Given the description of an element on the screen output the (x, y) to click on. 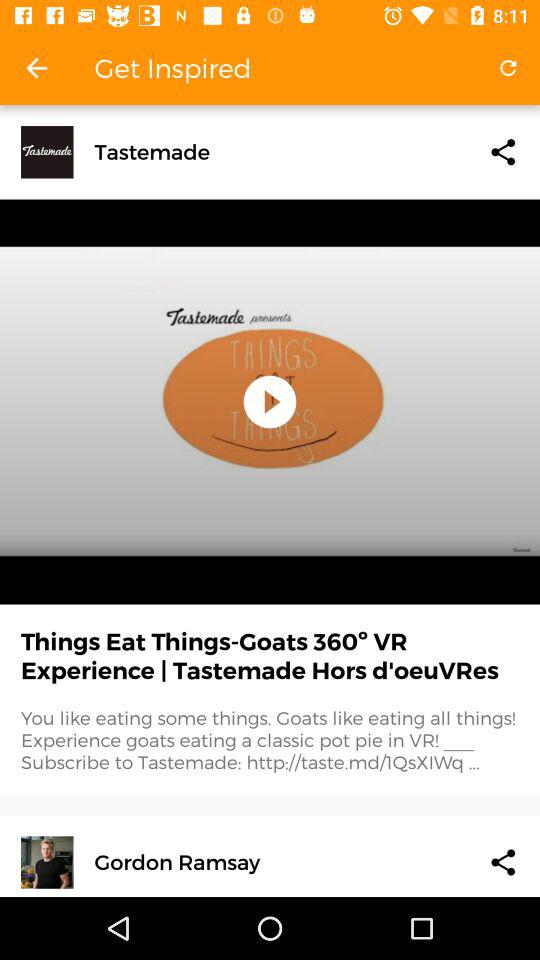
tap item to the left of get inspired (36, 68)
